Given the description of an element on the screen output the (x, y) to click on. 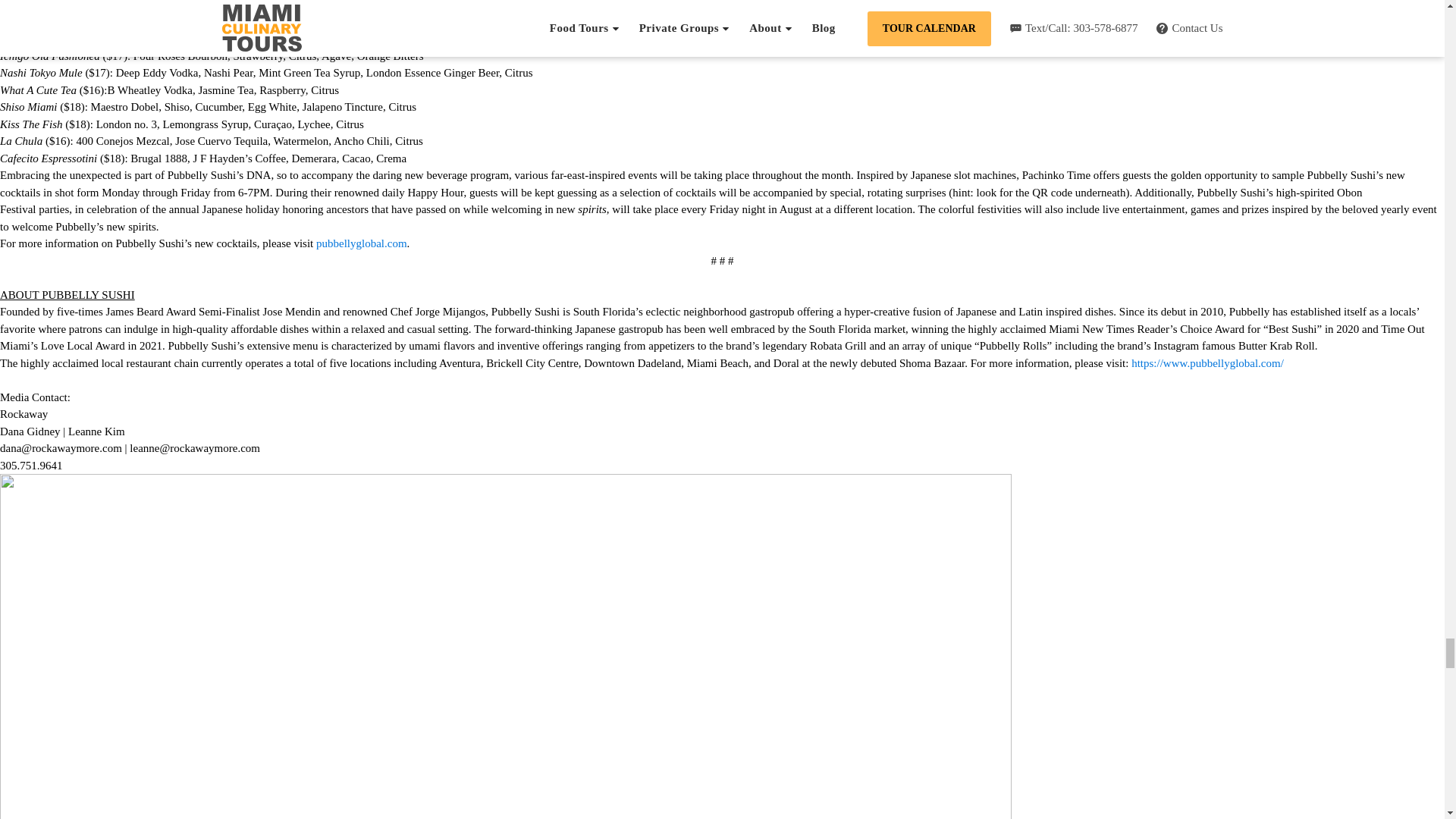
pubbellyglobal.com (361, 243)
